Given the description of an element on the screen output the (x, y) to click on. 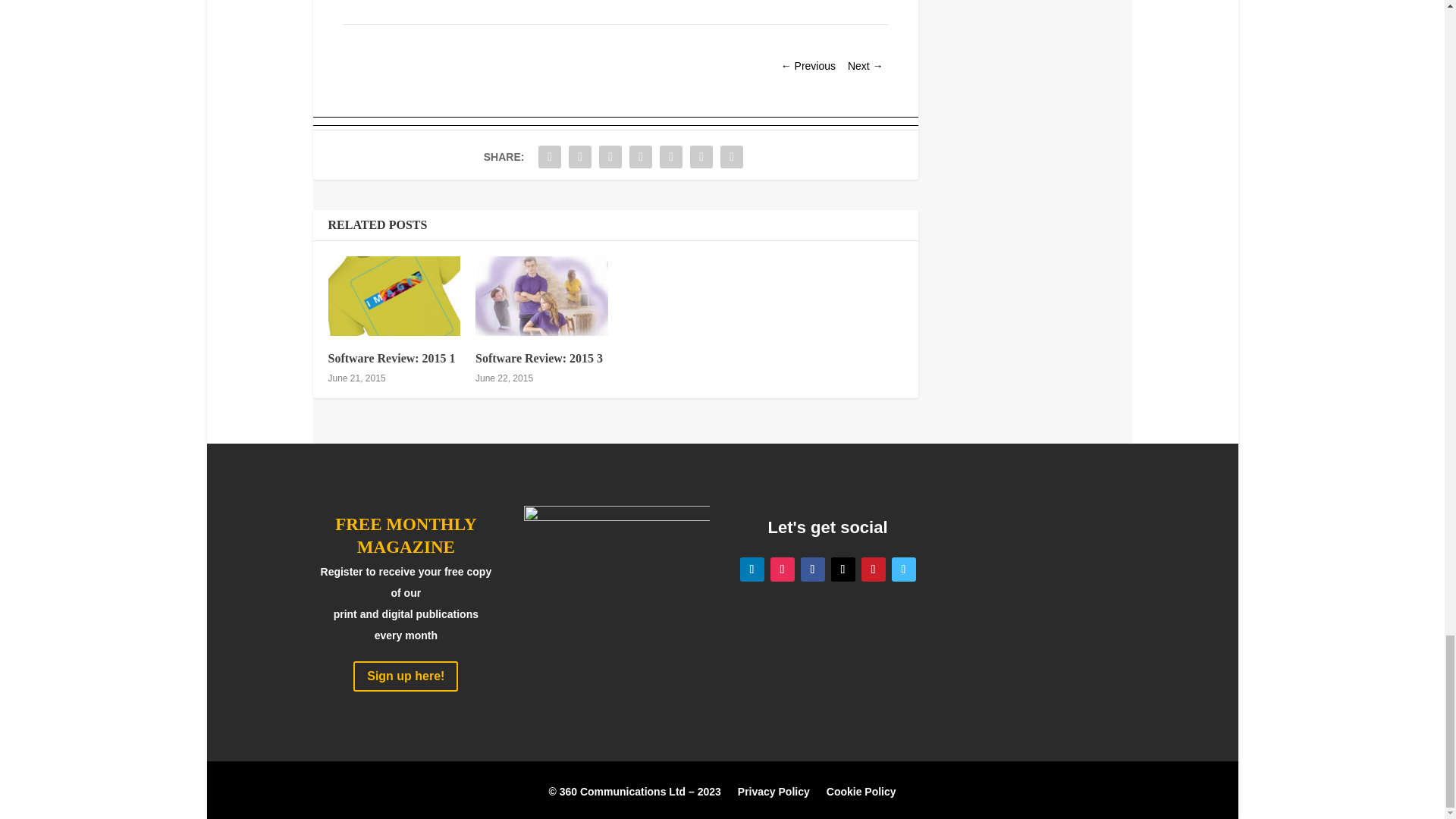
Share "Software Review: 2015 2" via Pinterest (641, 156)
Share "Software Review: 2015 2" via LinkedIn (670, 156)
Share "Software Review: 2015 2" via Twitter (579, 156)
Share "Software Review: 2015 2" via Facebook (549, 156)
Share "Software Review: 2015 2" via Email (700, 156)
